Given the description of an element on the screen output the (x, y) to click on. 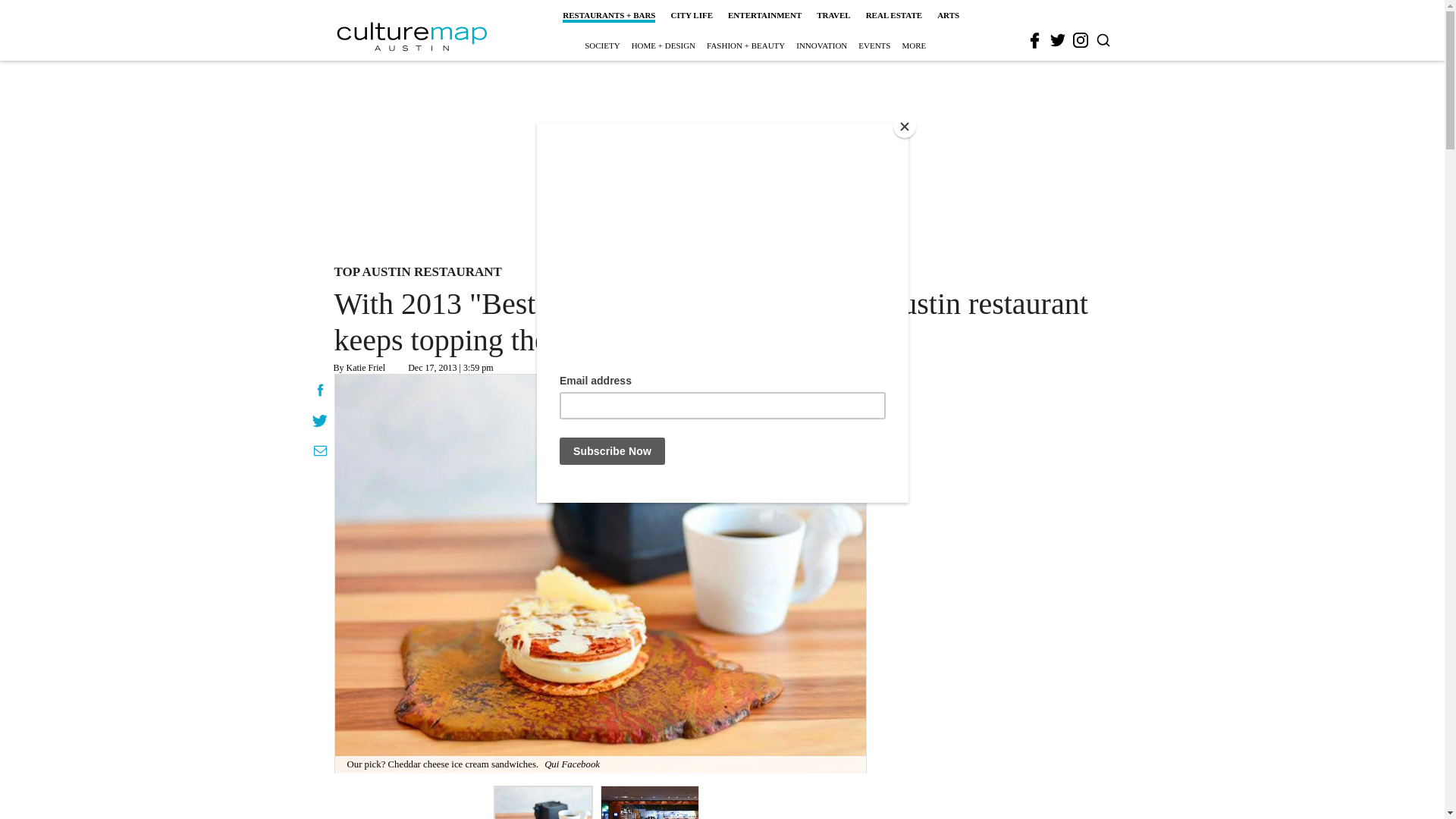
3rd party ad content (721, 160)
